Given the description of an element on the screen output the (x, y) to click on. 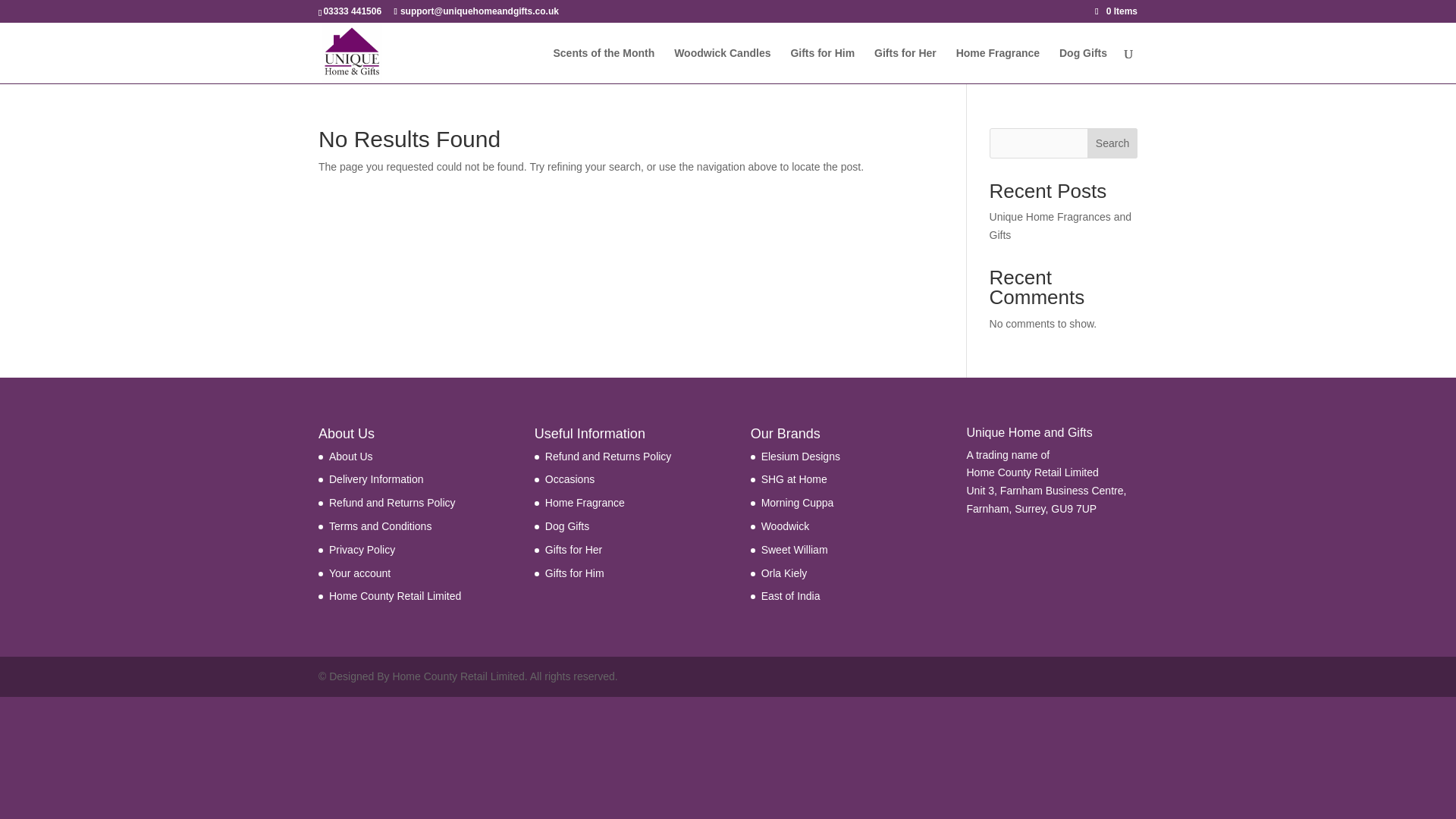
0 Items (1115, 10)
Terms and Conditions (379, 526)
Privacy Policy (361, 549)
Home Fragrance (997, 65)
Woodwick (785, 526)
Unique Home Fragrances and Gifts (1061, 225)
Gifts for Him (574, 573)
Morning Cuppa (797, 502)
East of India (791, 595)
Search (1112, 142)
Gifts for Her (573, 549)
Dog Gifts (566, 526)
Woodwick Candles (722, 65)
Orla Kiely (784, 573)
Delivery Information (376, 479)
